Given the description of an element on the screen output the (x, y) to click on. 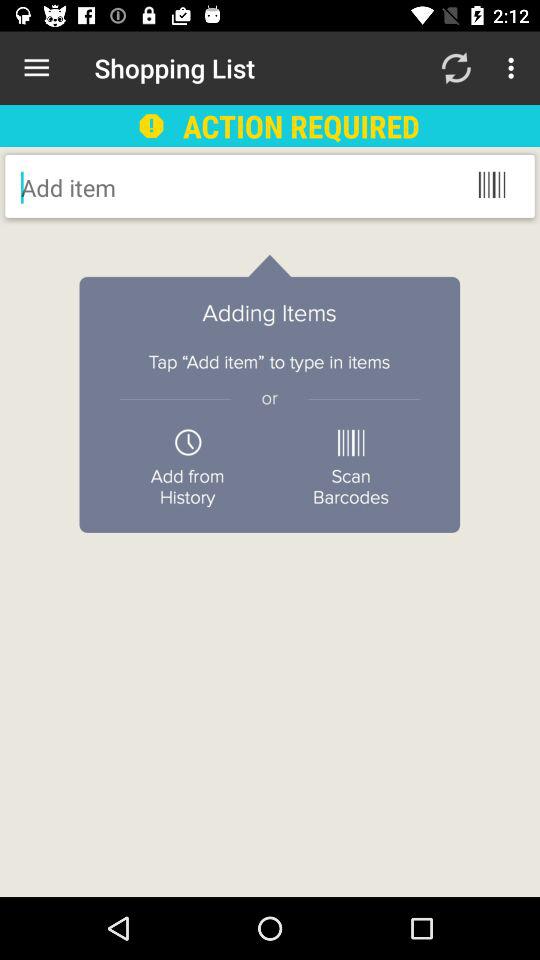
choose the item next to shopping list (36, 68)
